Given the description of an element on the screen output the (x, y) to click on. 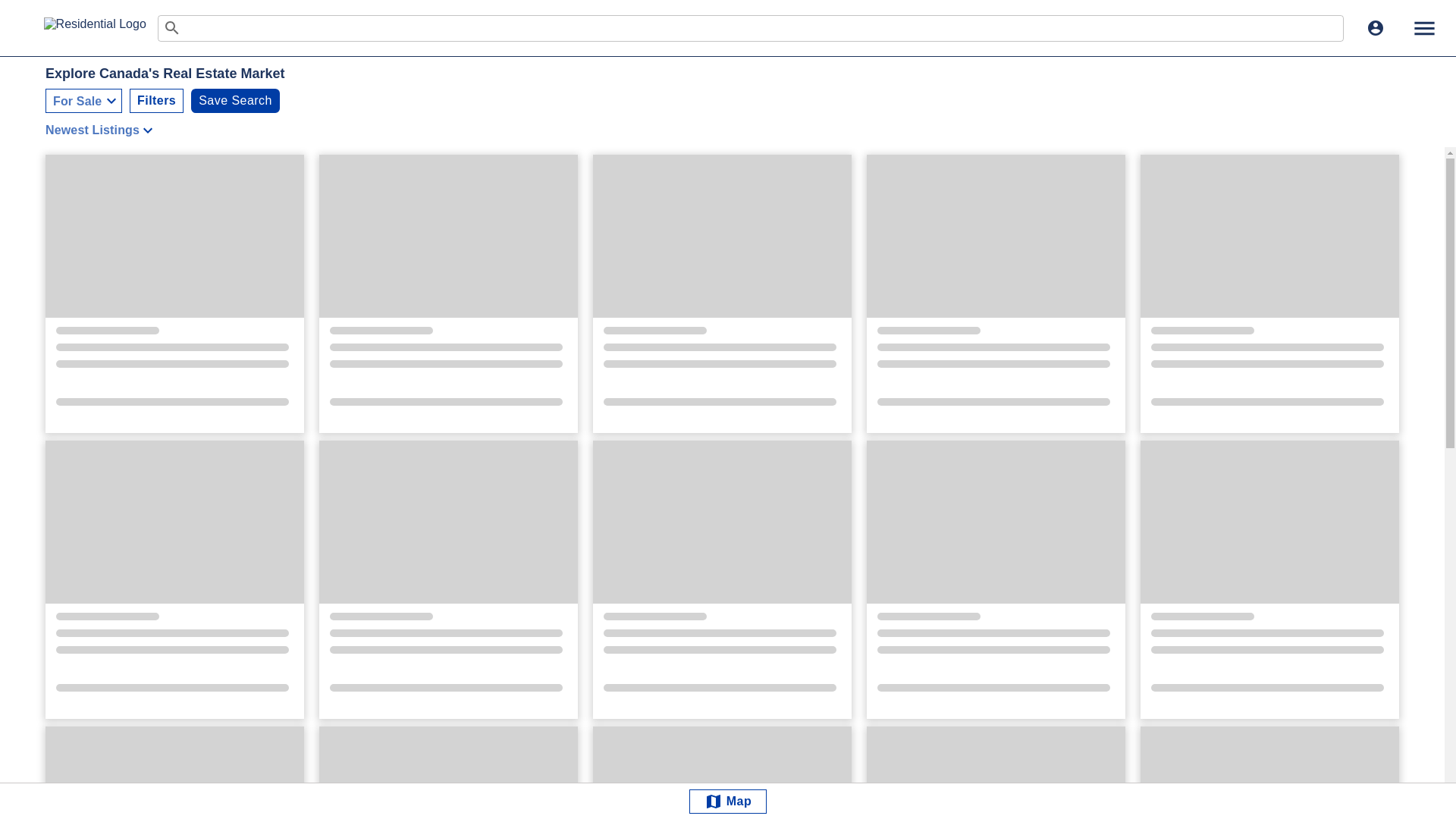
Save Search (234, 100)
Residential (100, 27)
Filters (156, 100)
